Given the description of an element on the screen output the (x, y) to click on. 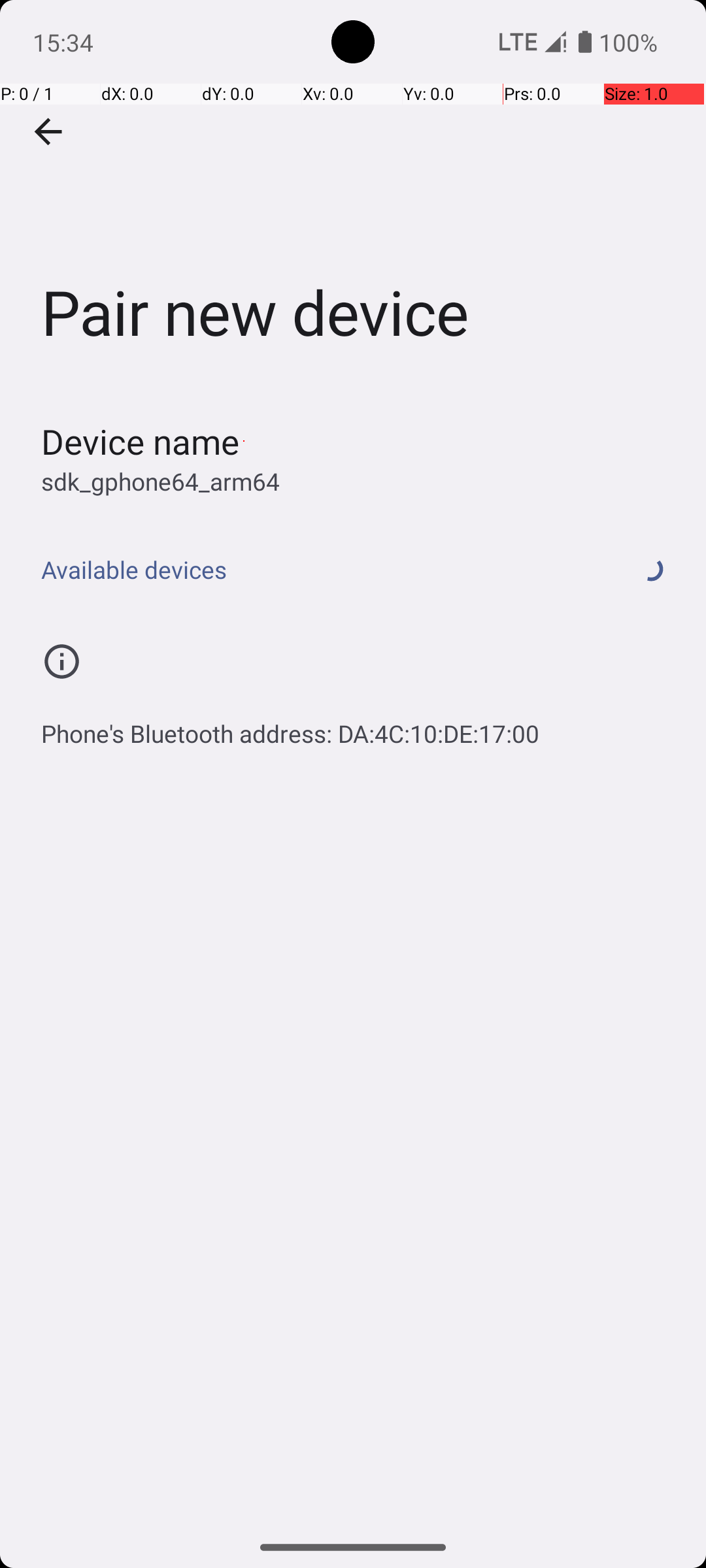
Available devices Element type: android.widget.TextView (318, 435)
Phone's Bluetooth address: DA:4C:10:DE:17:00 Element type: android.widget.TextView (290, 674)
